Given the description of an element on the screen output the (x, y) to click on. 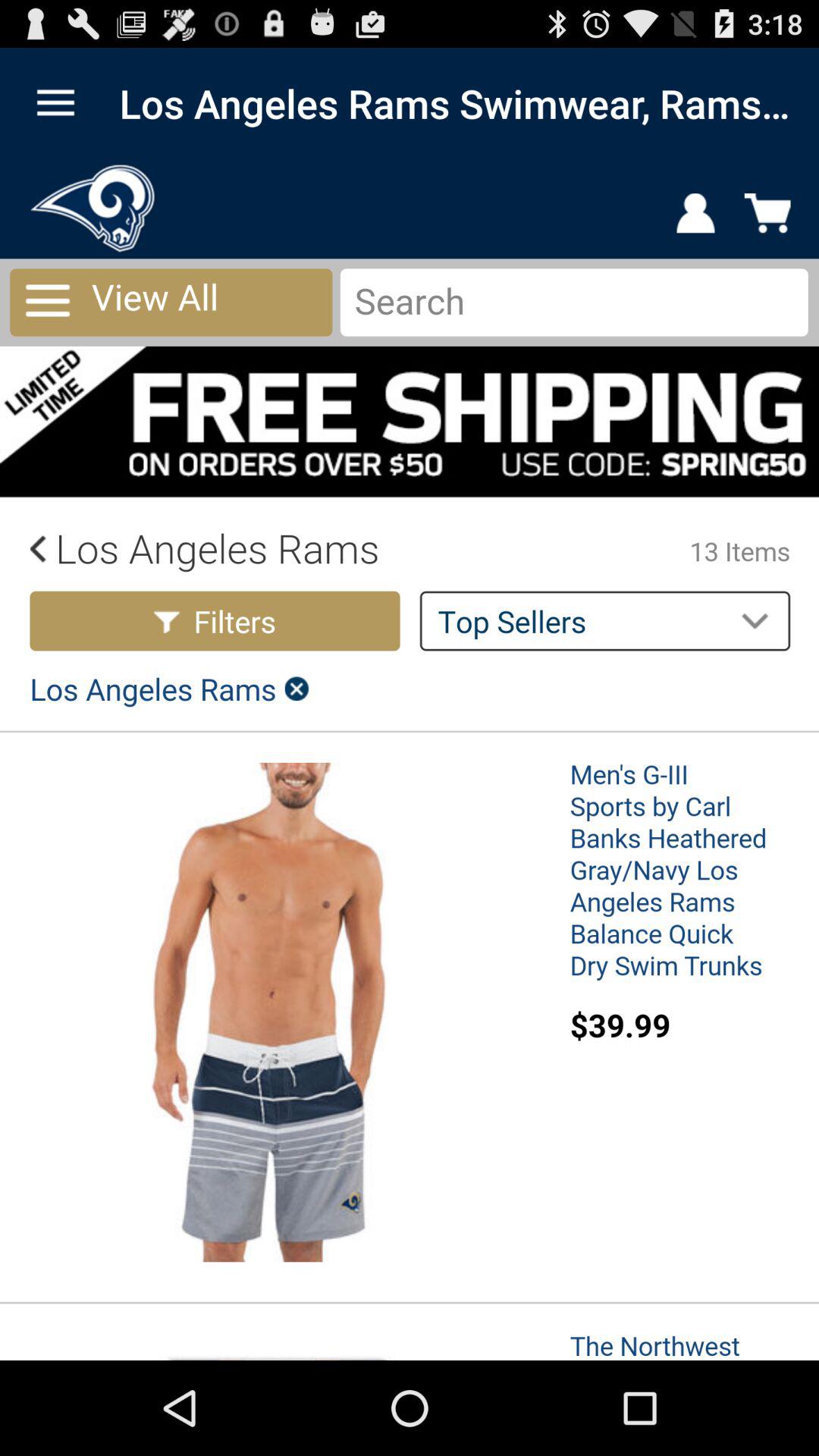
advertisement box (409, 759)
